Given the description of an element on the screen output the (x, y) to click on. 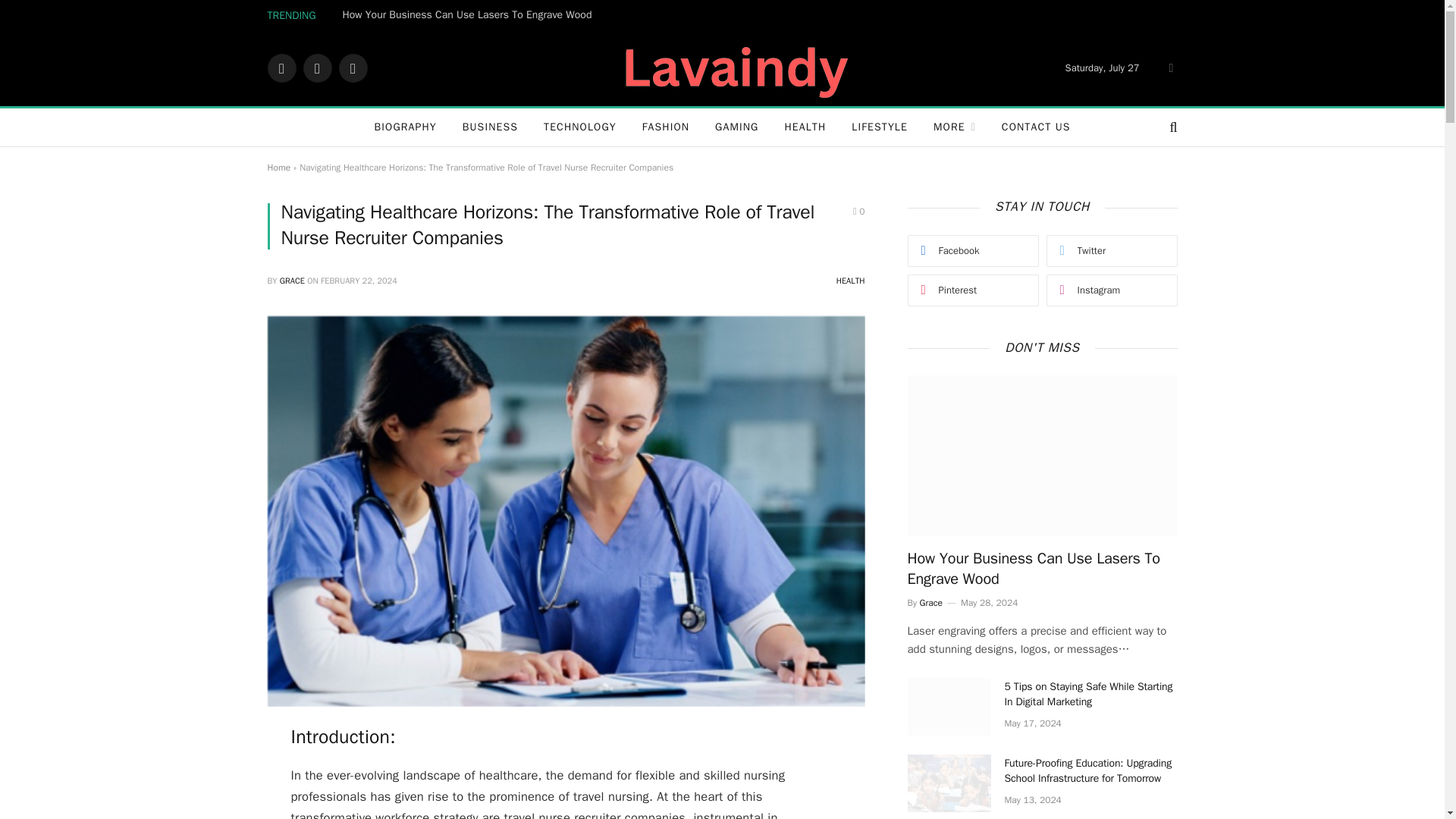
lavaindy (722, 68)
Posts by Grace (291, 280)
HEALTH (804, 127)
GAMING (736, 127)
Instagram (351, 68)
FASHION (664, 127)
Twitter (316, 68)
Search (1171, 127)
Facebook (280, 68)
MORE (954, 127)
CONTACT US (1035, 127)
2024-02-22 (358, 280)
How Your Business Can Use Lasers To Engrave Wood (470, 15)
LIFESTYLE (879, 127)
Switch to Dark Design - easier on eyes. (1168, 68)
